Given the description of an element on the screen output the (x, y) to click on. 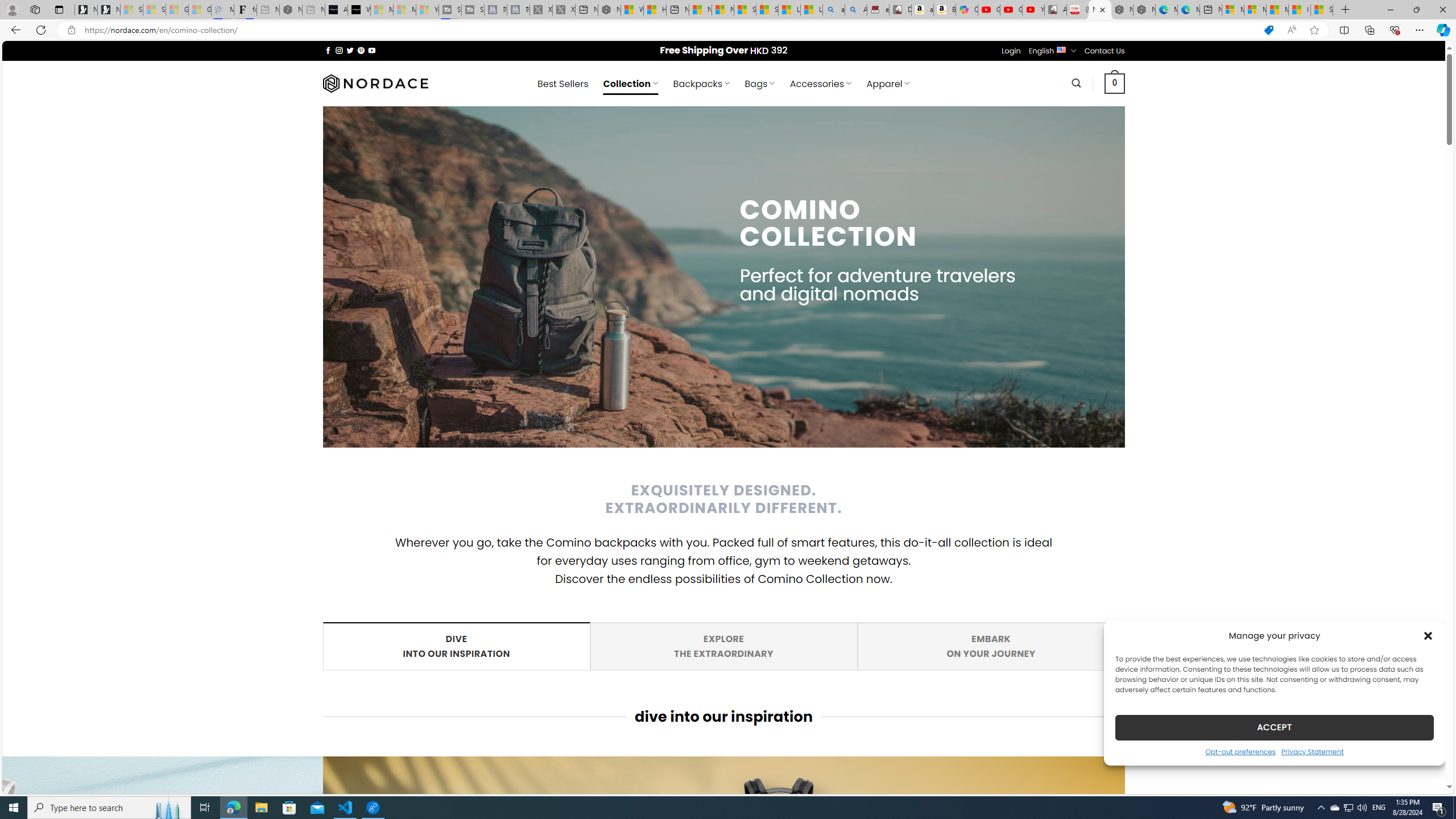
Login (1010, 50)
Nordace - Nordace has arrived Hong Kong (1144, 9)
Streaming Coverage | T3 - Sleeping (449, 9)
Microsoft Start - Sleeping (404, 9)
What's the best AI voice generator? - voice.ai (359, 9)
Login (1010, 50)
  0   (1115, 83)
